Given the description of an element on the screen output the (x, y) to click on. 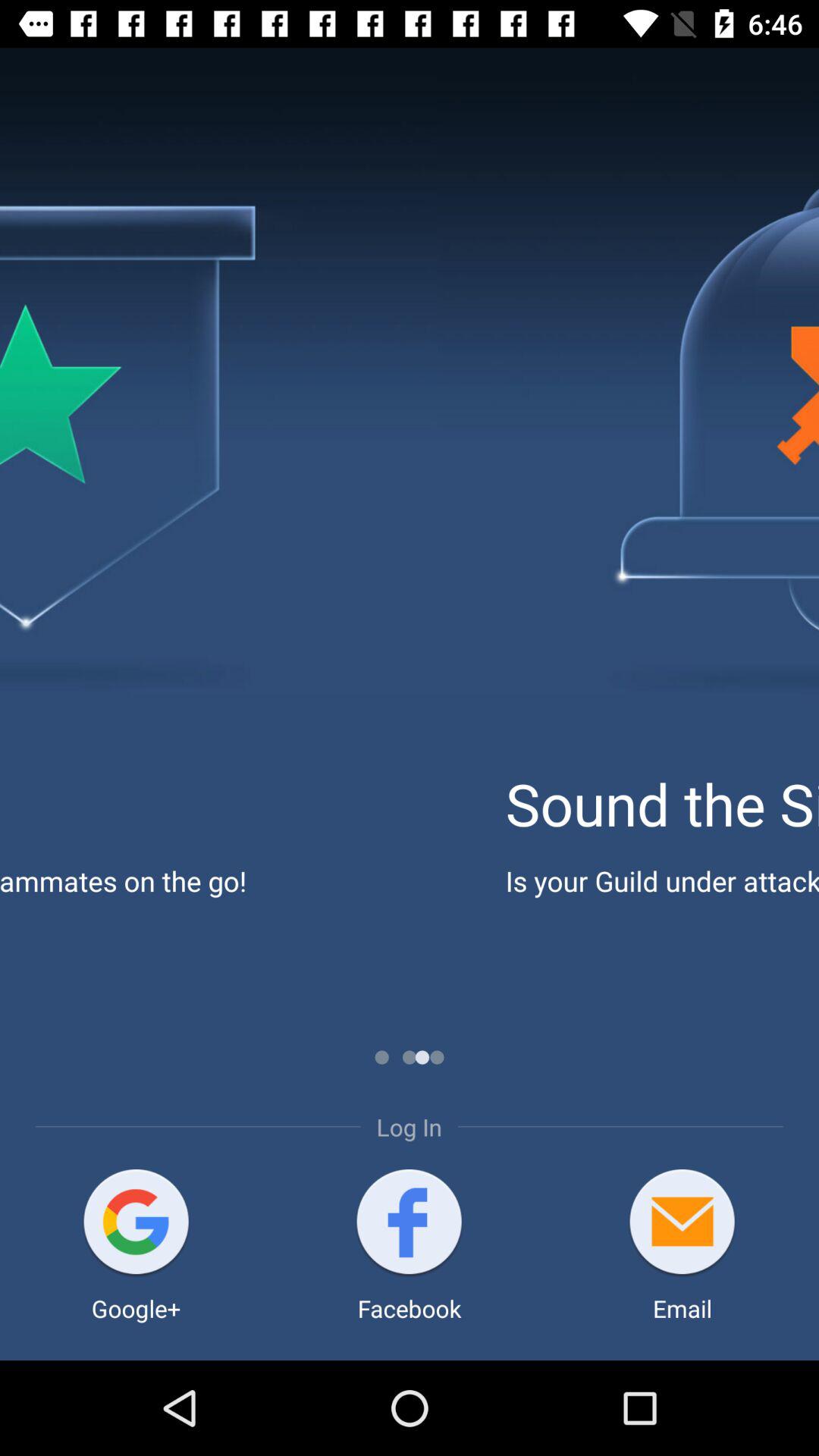
press item above the email item (681, 1223)
